Given the description of an element on the screen output the (x, y) to click on. 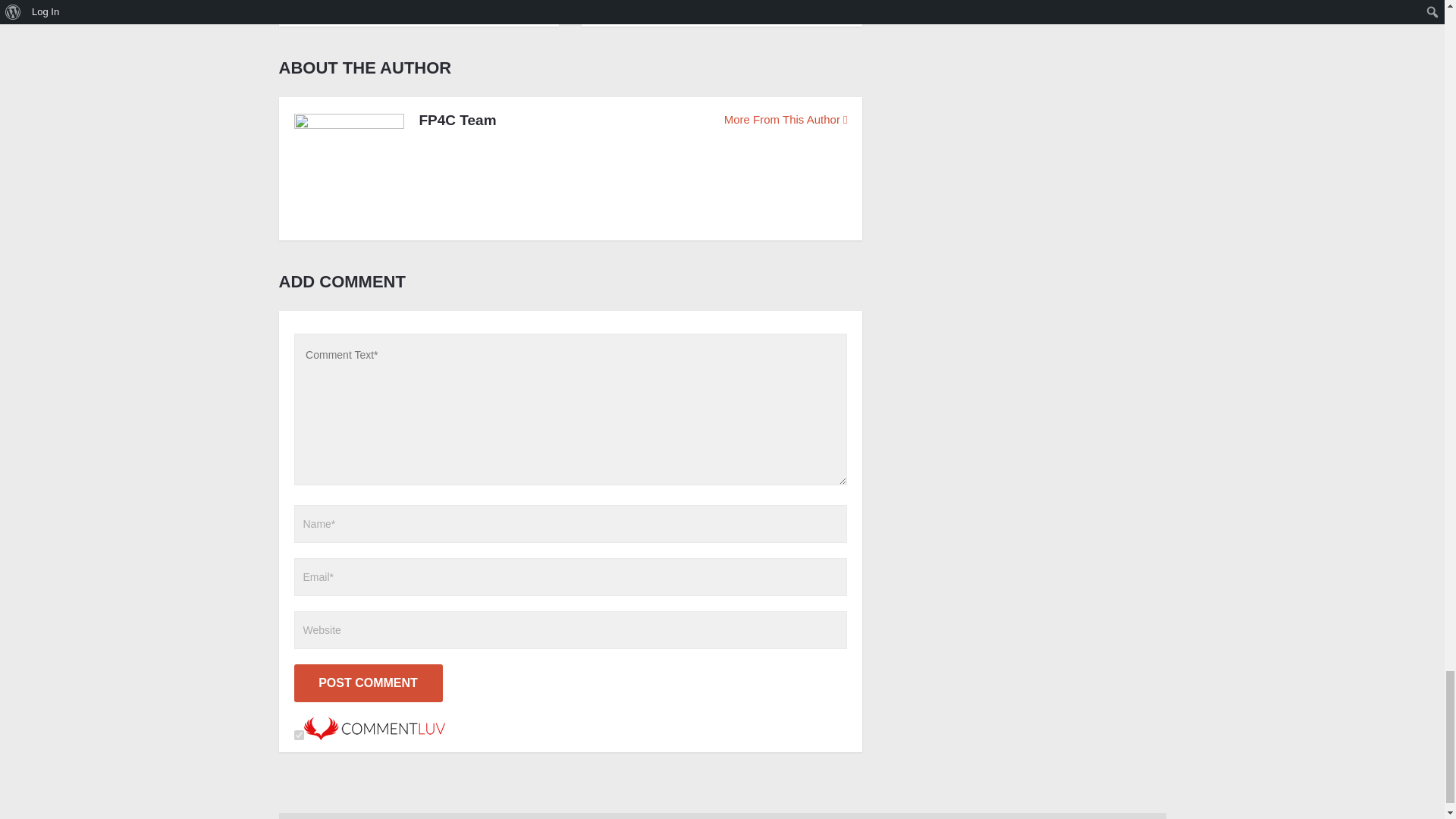
Post Comment (368, 682)
on (299, 735)
MORE (328, 6)
